Given the description of an element on the screen output the (x, y) to click on. 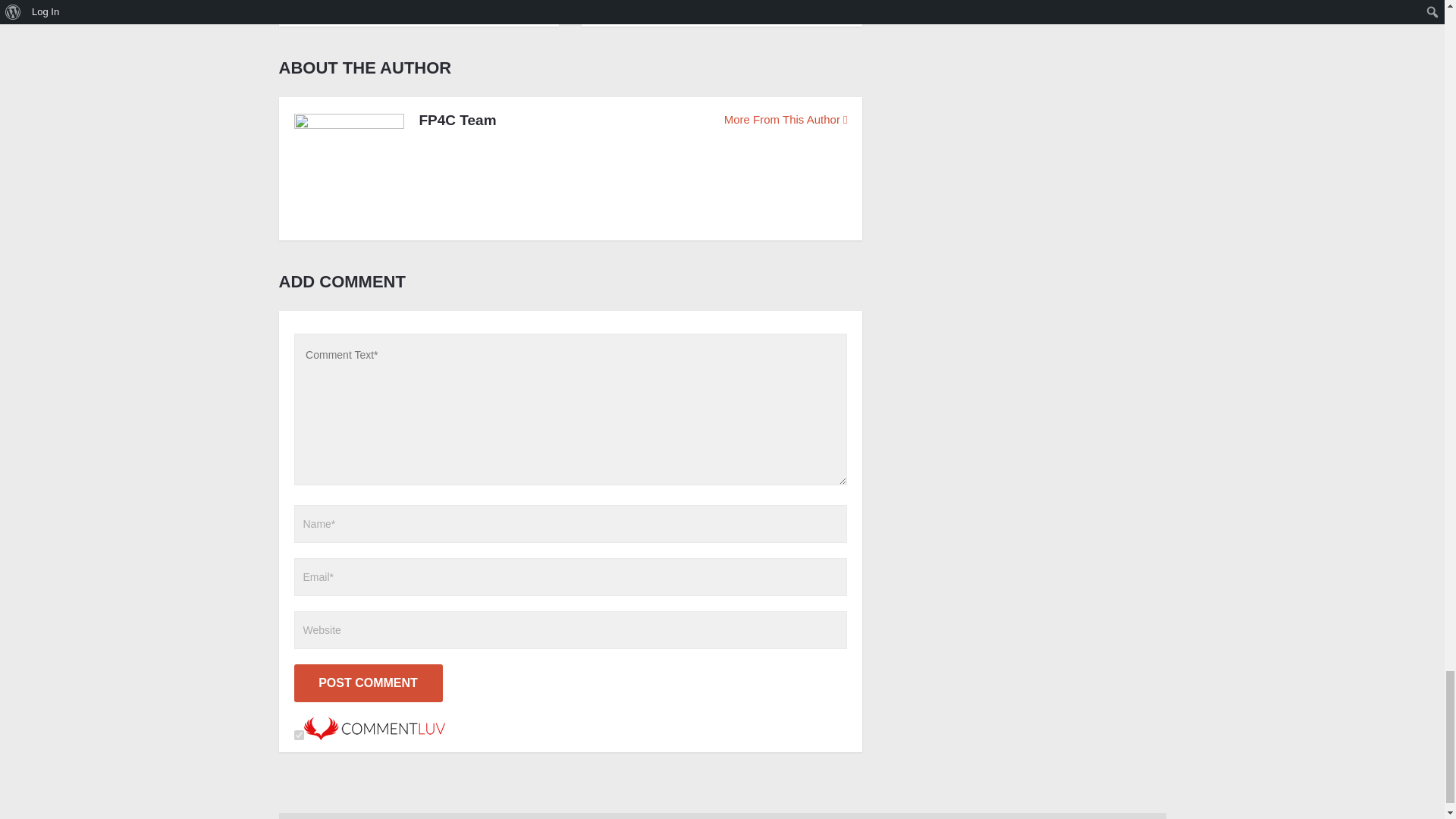
Post Comment (368, 682)
on (299, 735)
MORE (328, 6)
